Given the description of an element on the screen output the (x, y) to click on. 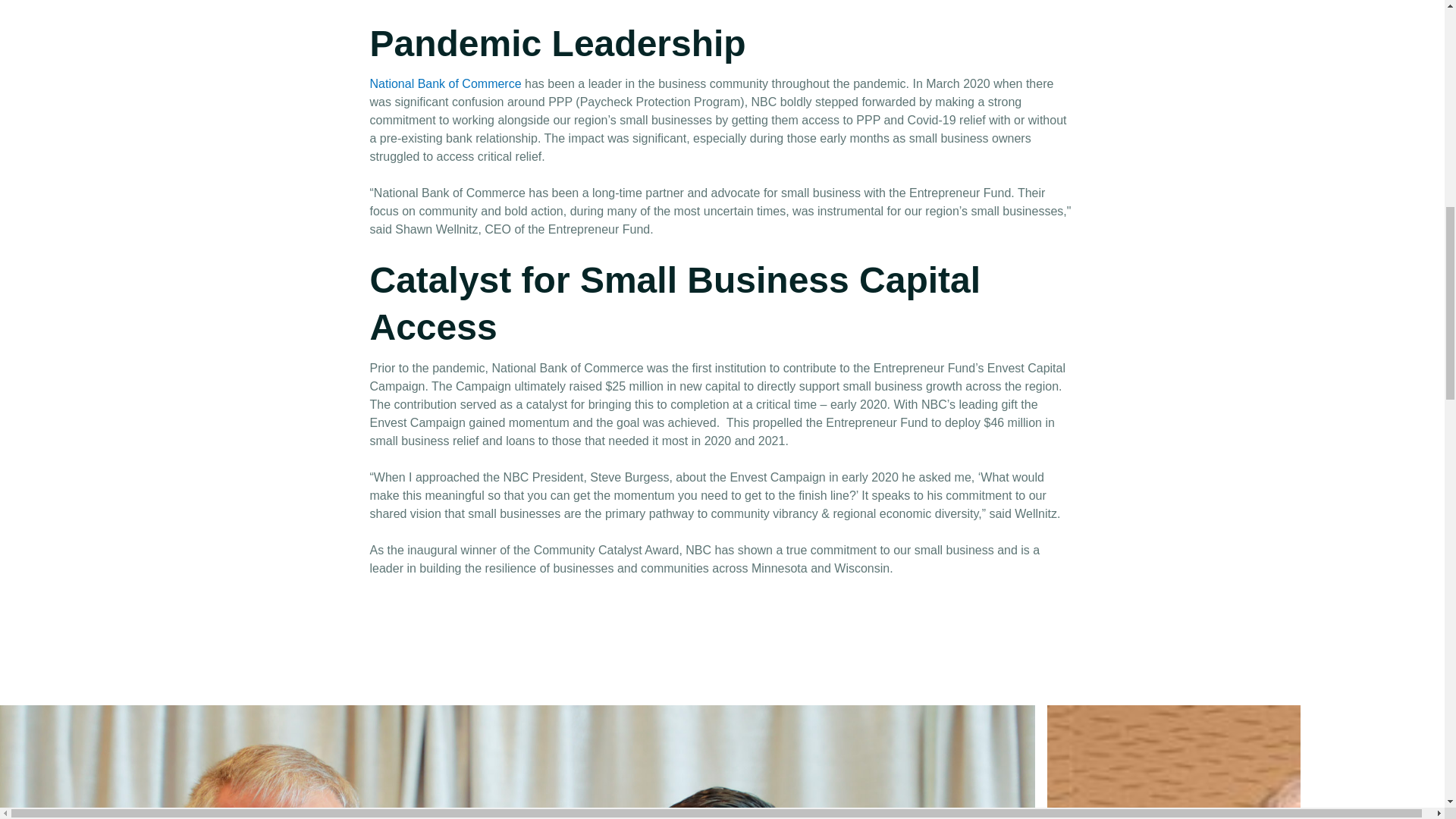
National Bank of Commerce (447, 83)
